Given the description of an element on the screen output the (x, y) to click on. 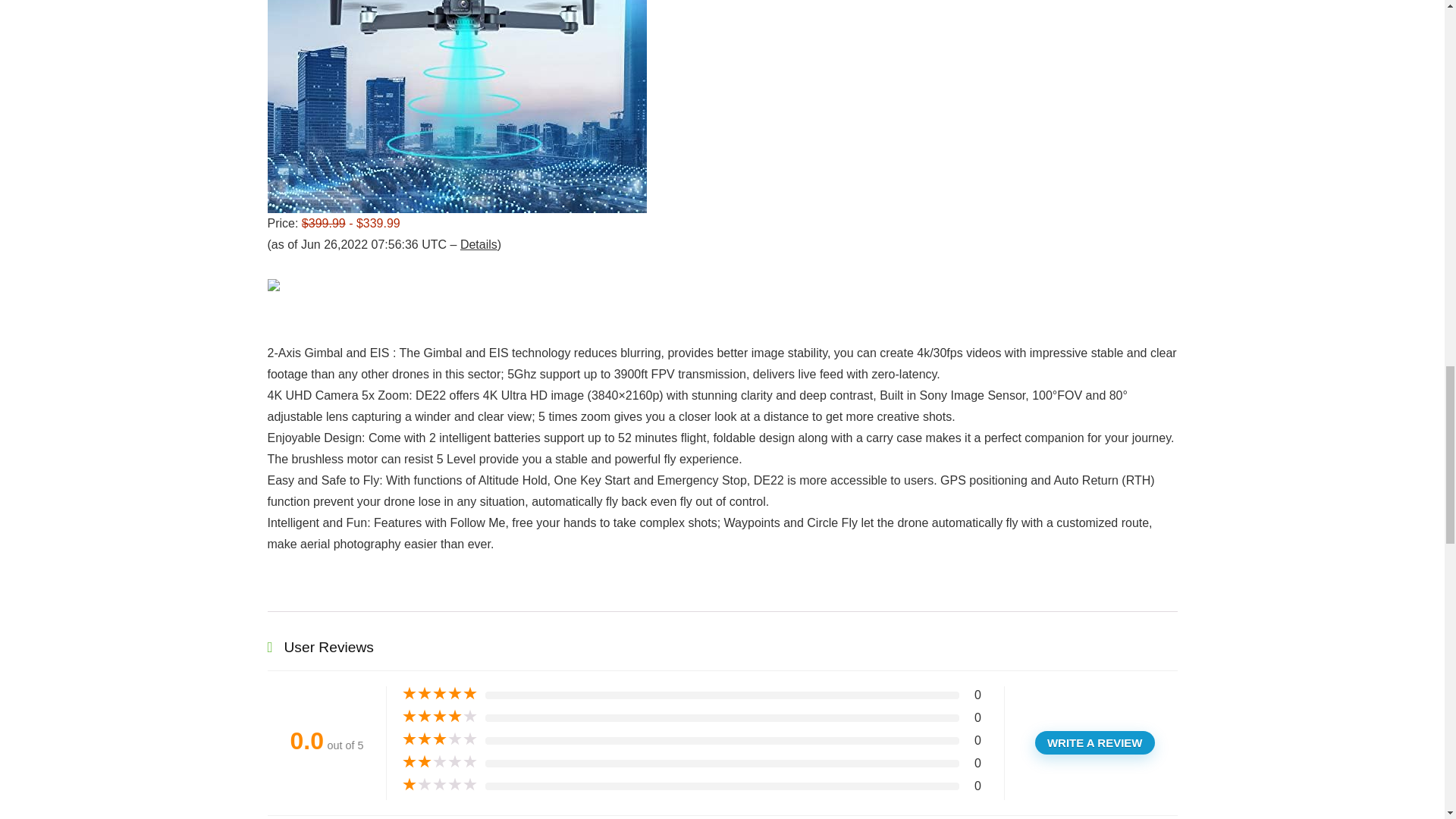
Rated 3 out of 5 (439, 739)
Rated 4 out of 5 (439, 716)
Rated 5 out of 5 (439, 693)
Rated 2 out of 5 (439, 761)
Rated 1 out of 5 (439, 784)
WRITE A REVIEW (1094, 742)
